Given the description of an element on the screen output the (x, y) to click on. 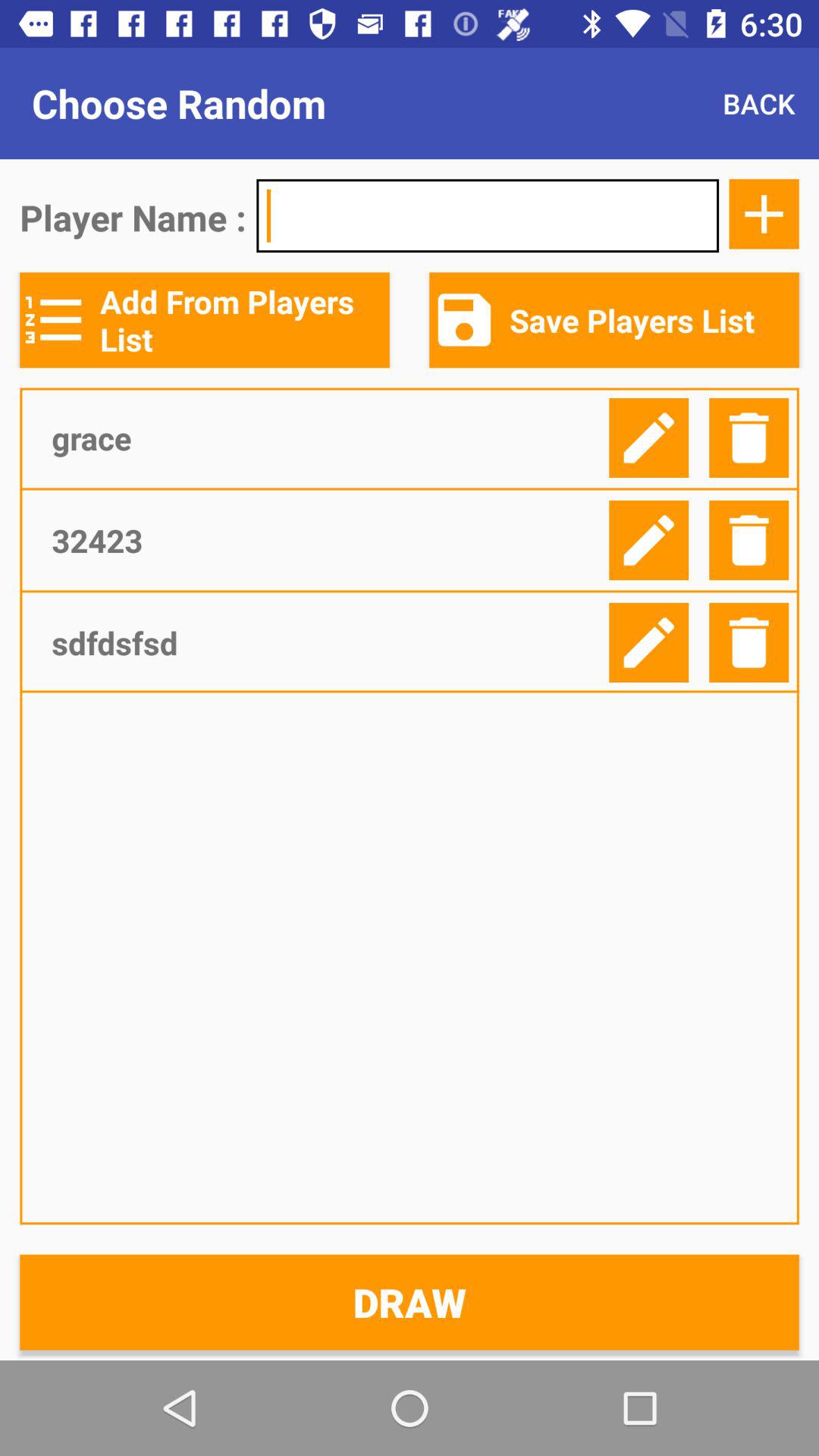
delete item (748, 642)
